Given the description of an element on the screen output the (x, y) to click on. 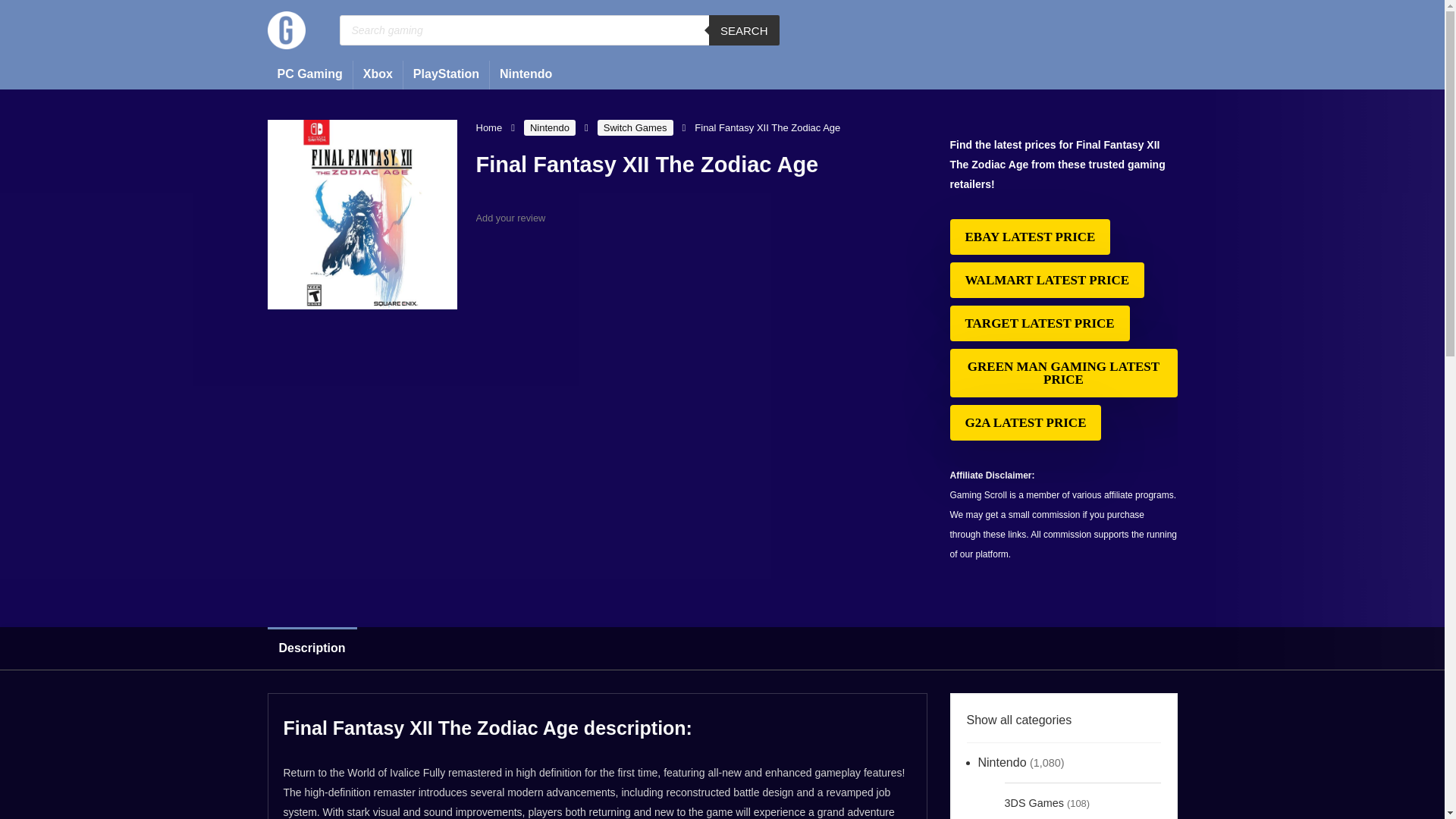
Home (489, 127)
Xbox (378, 74)
Switch Games (634, 127)
PC Gaming (309, 74)
SEARCH (743, 30)
Description (311, 648)
G2A LATEST PRICE (1024, 422)
GREEN MAN GAMING LATEST PRICE (1062, 372)
3DS Games (1033, 800)
Description (721, 648)
